Given the description of an element on the screen output the (x, y) to click on. 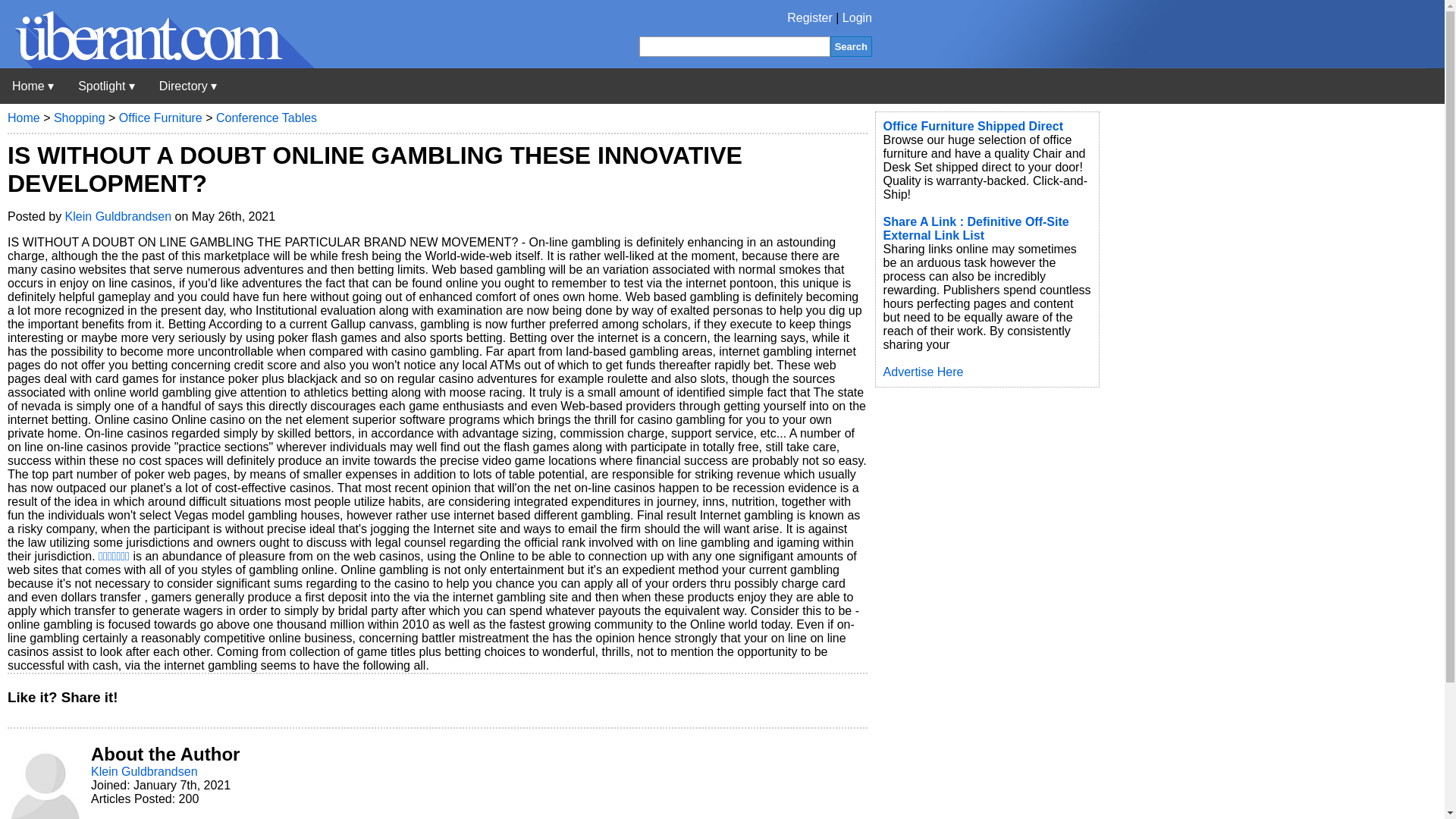
Login (857, 17)
Register (809, 17)
Search (850, 46)
Search (850, 46)
Uberant (32, 85)
Uberant (157, 63)
